Given the description of an element on the screen output the (x, y) to click on. 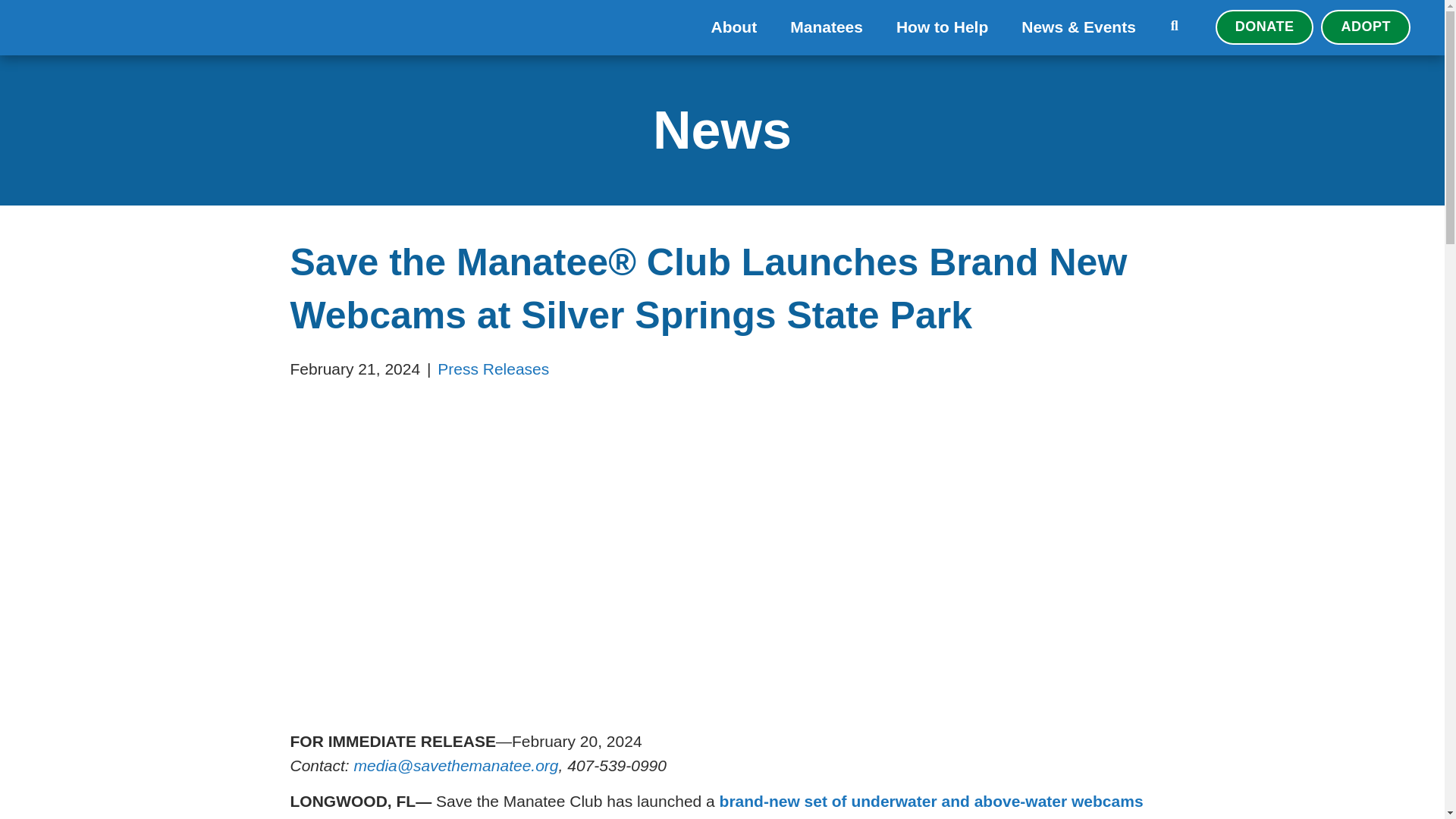
How to Help (941, 27)
ADOPT (1365, 27)
Manatees (826, 27)
About (734, 27)
Silver Springs Webcams 180 Smc (718, 547)
DONATE (1264, 27)
Webcams (930, 800)
